Given the description of an element on the screen output the (x, y) to click on. 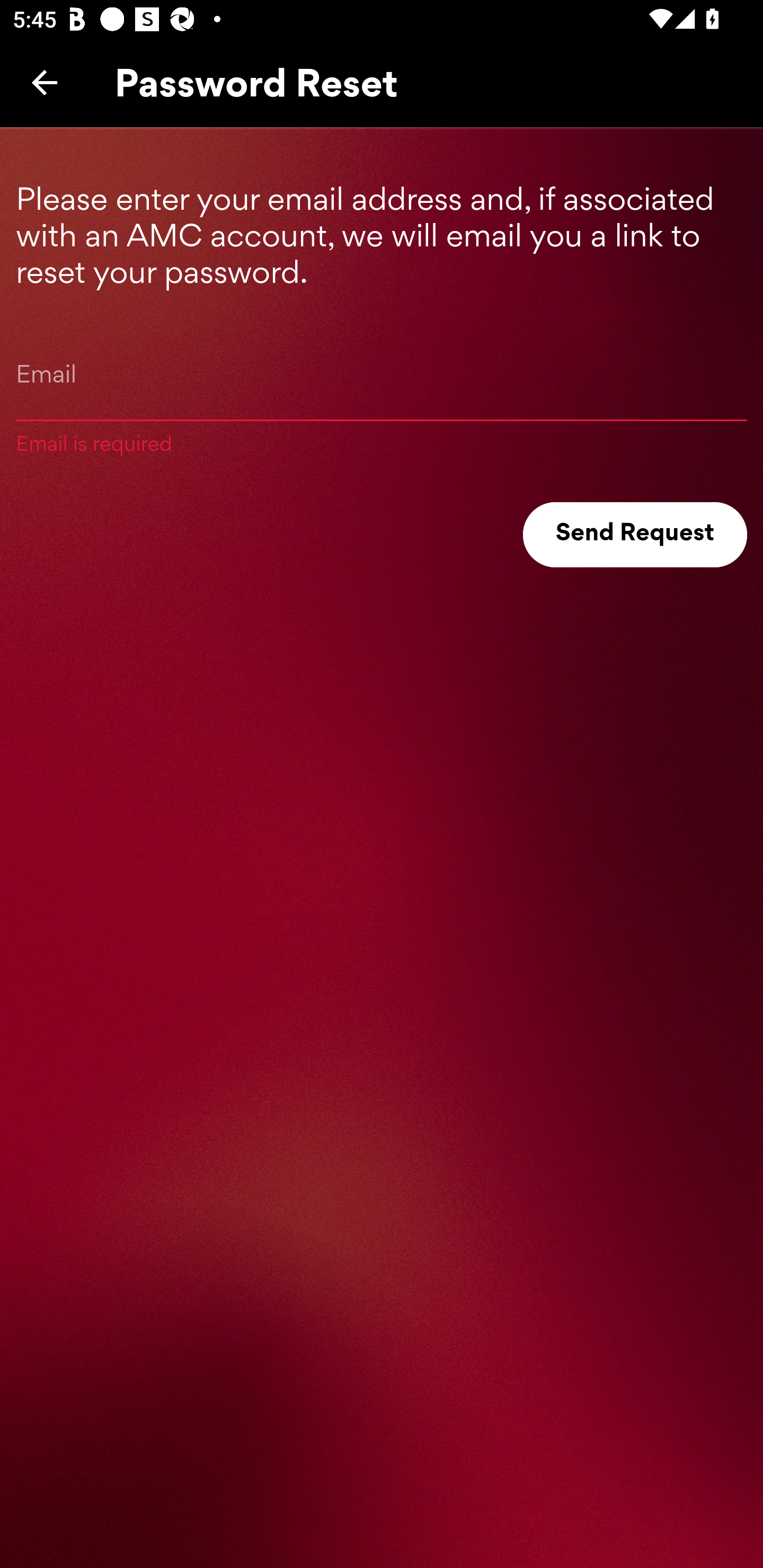
Back (44, 82)
Email is required (381, 394)
Send Request (634, 535)
